Given the description of an element on the screen output the (x, y) to click on. 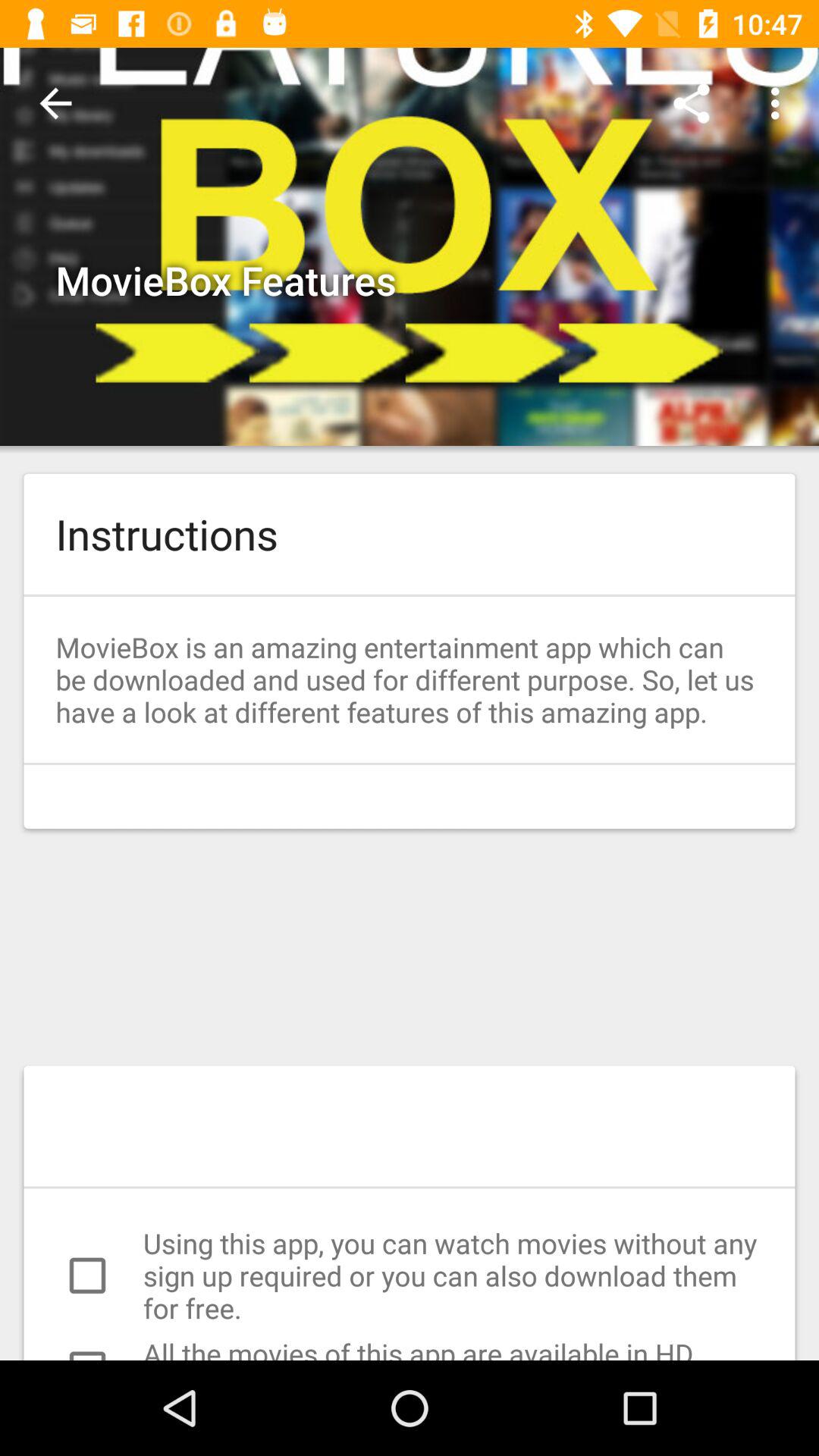
jump until the all the movies item (409, 1347)
